Given the description of an element on the screen output the (x, y) to click on. 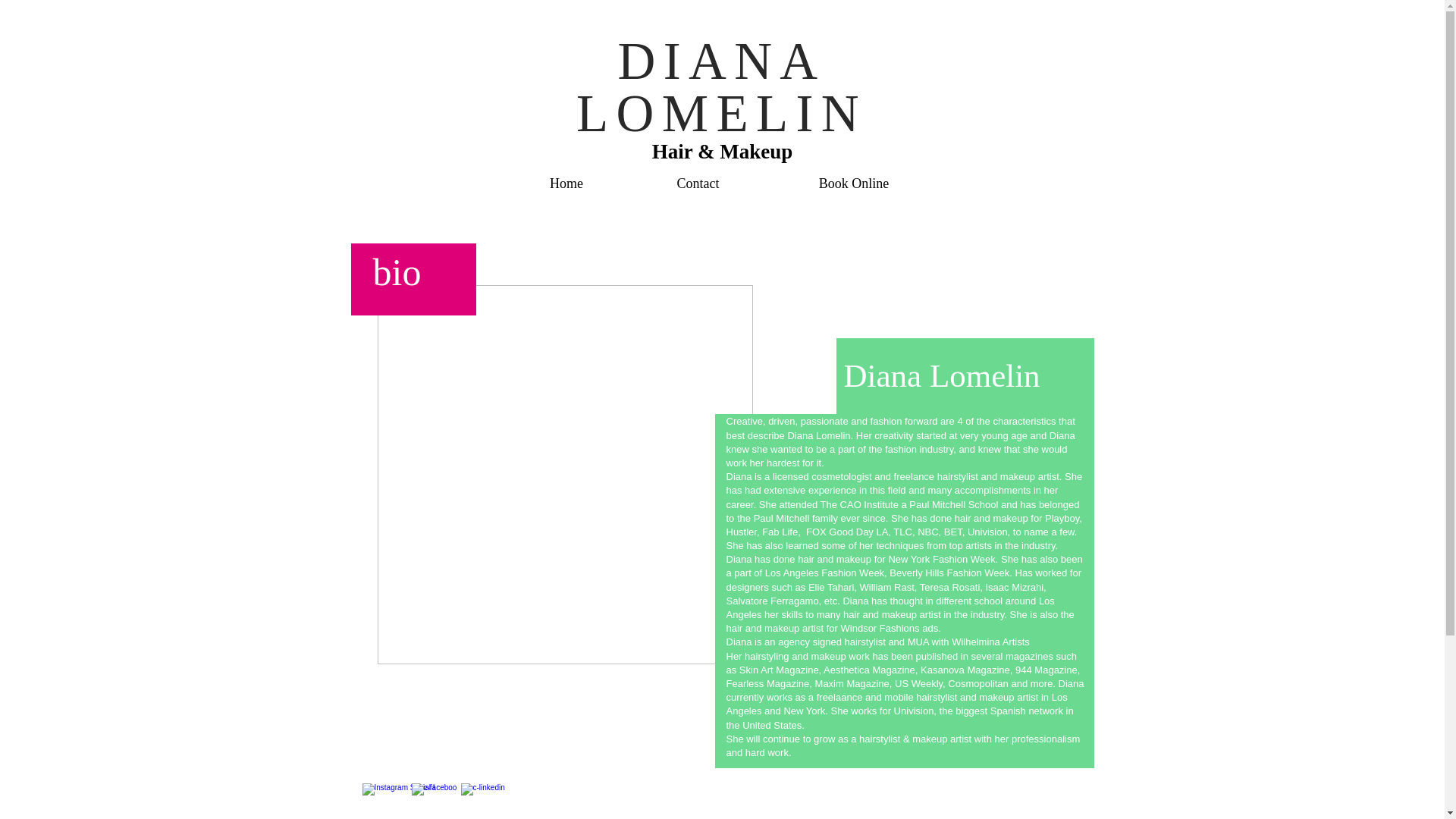
Book Online (853, 183)
Contact (698, 183)
Home (566, 183)
